Given the description of an element on the screen output the (x, y) to click on. 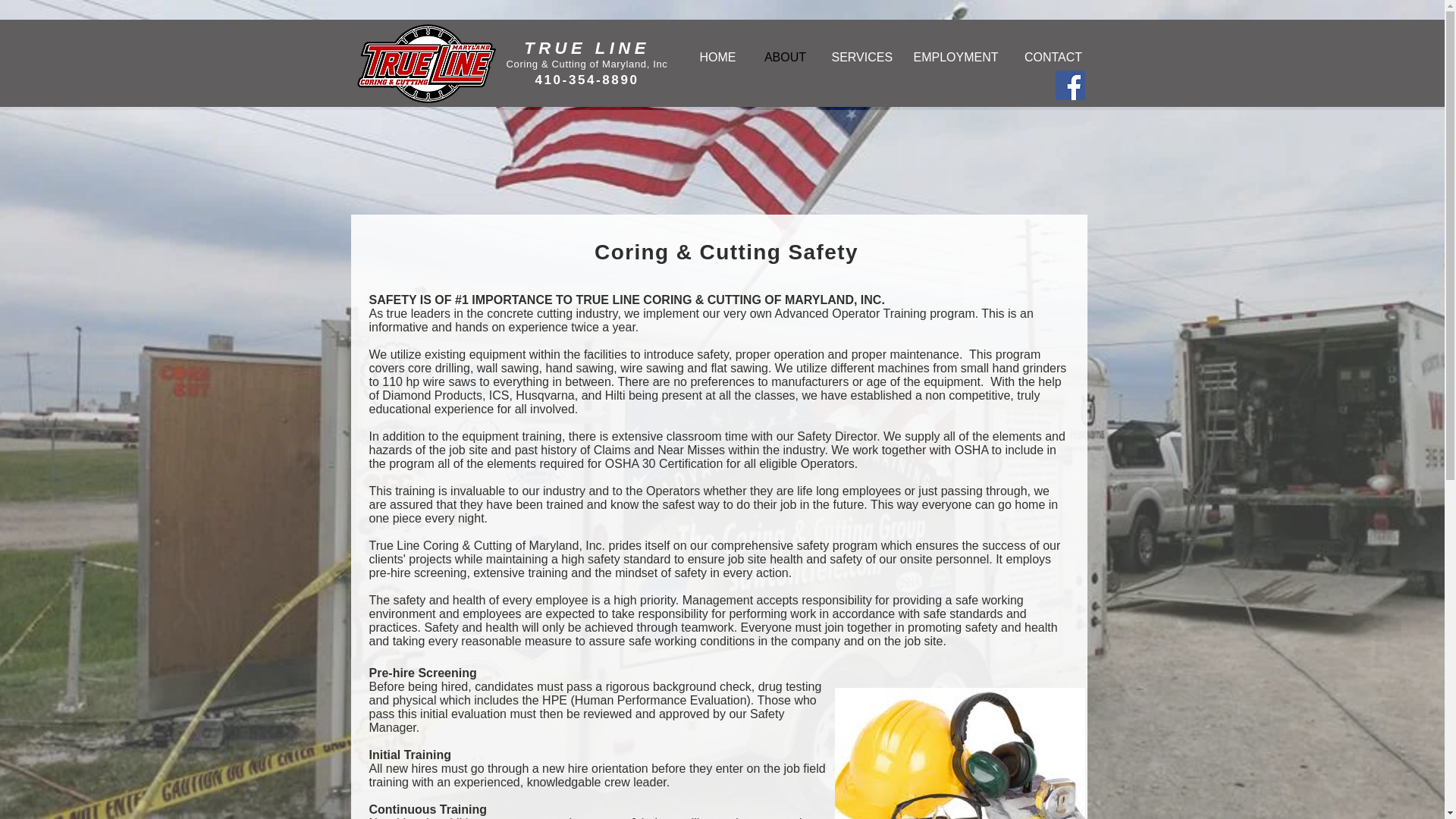
ABOUT (786, 57)
410-354-8890 (586, 79)
TRUE LINE (586, 47)
SERVICES (861, 57)
CONTACT (1053, 57)
HOME (718, 57)
EMPLOYMENT (955, 57)
